Given the description of an element on the screen output the (x, y) to click on. 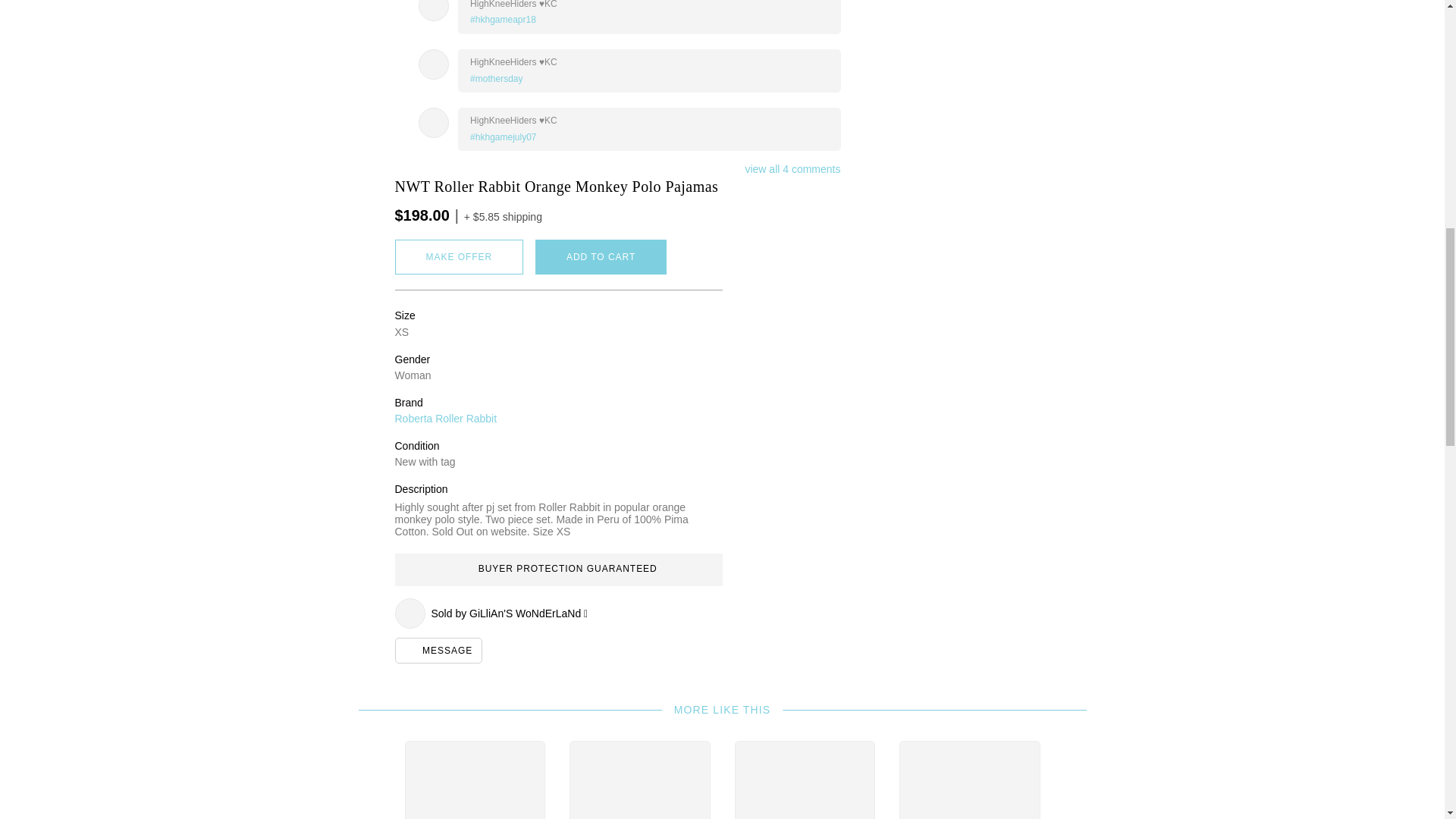
Roberta Roller Rabbit (445, 418)
MAKE OFFER (458, 256)
view all 4 comments (792, 168)
